Given the description of an element on the screen output the (x, y) to click on. 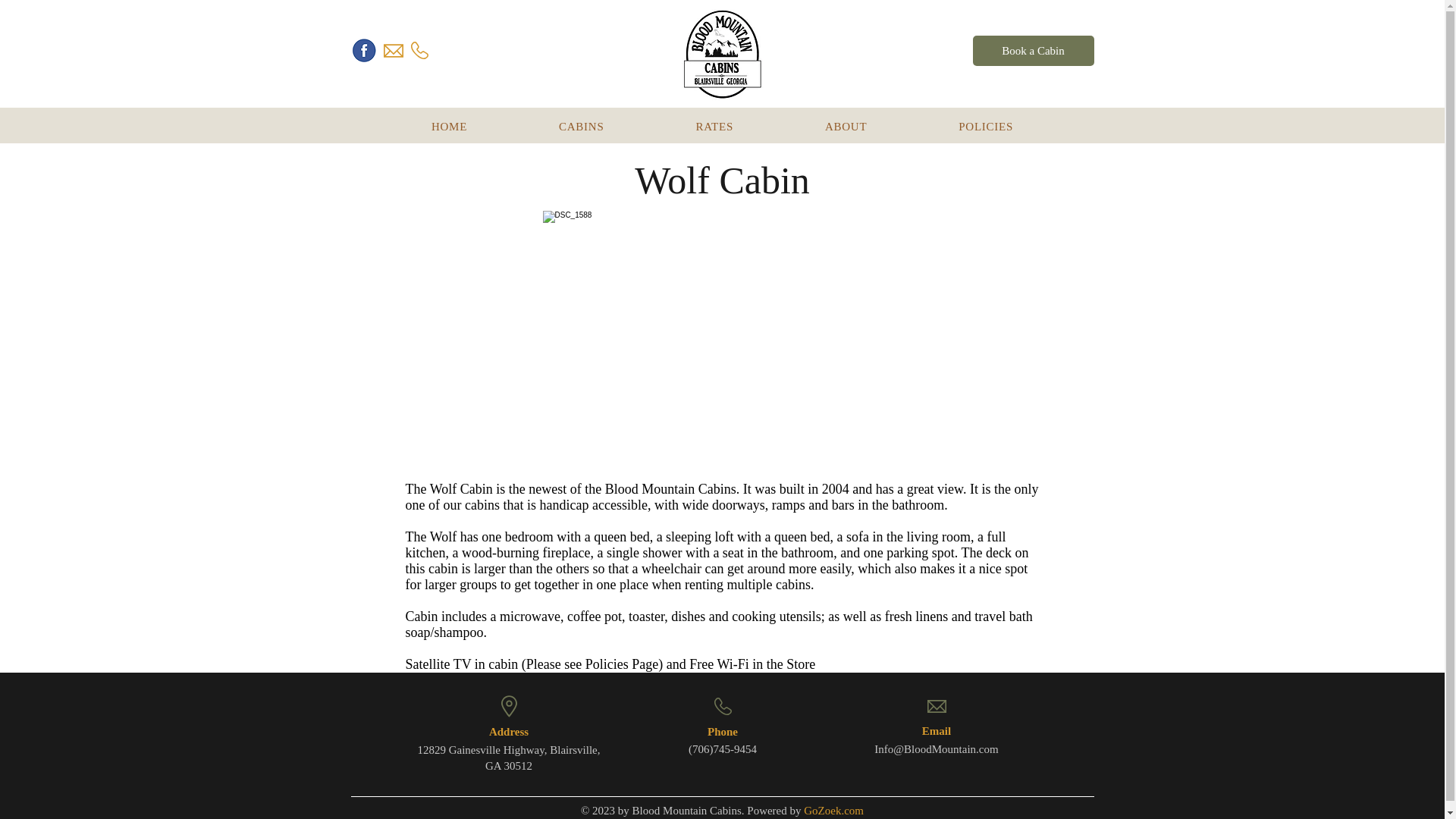
RATES (714, 126)
HOME (448, 126)
Book a Cabin (721, 126)
CABINS (1032, 51)
GoZoek.com (581, 126)
POLICIES (833, 810)
ABOUT (986, 126)
